Given the description of an element on the screen output the (x, y) to click on. 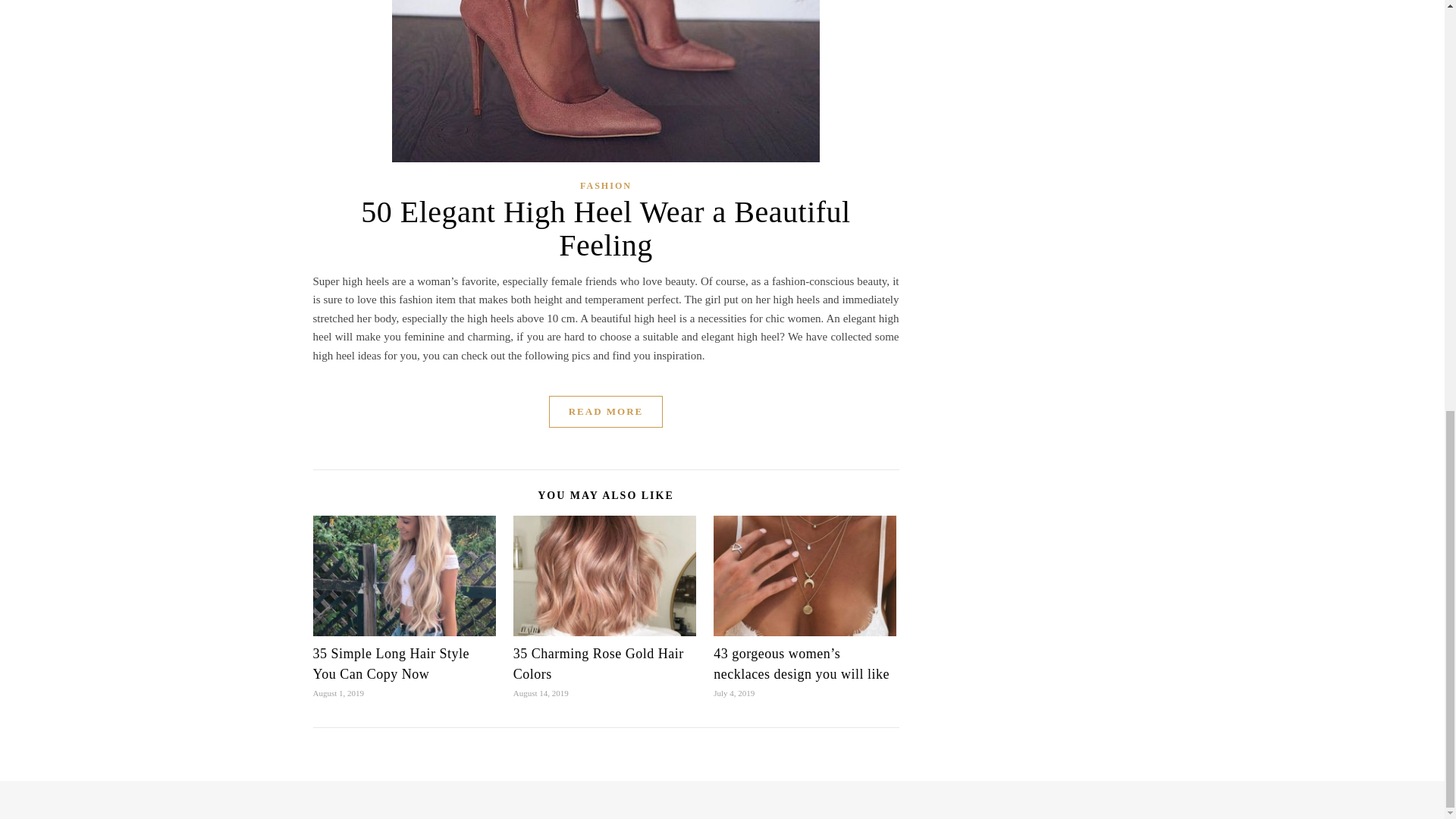
READ MORE (605, 411)
35 Simple Long Hair Style You Can Copy Now (390, 663)
Advertisement (1028, 166)
50 Elegant High Heel Wear a Beautiful Feeling (605, 228)
FASHION (605, 185)
